Given the description of an element on the screen output the (x, y) to click on. 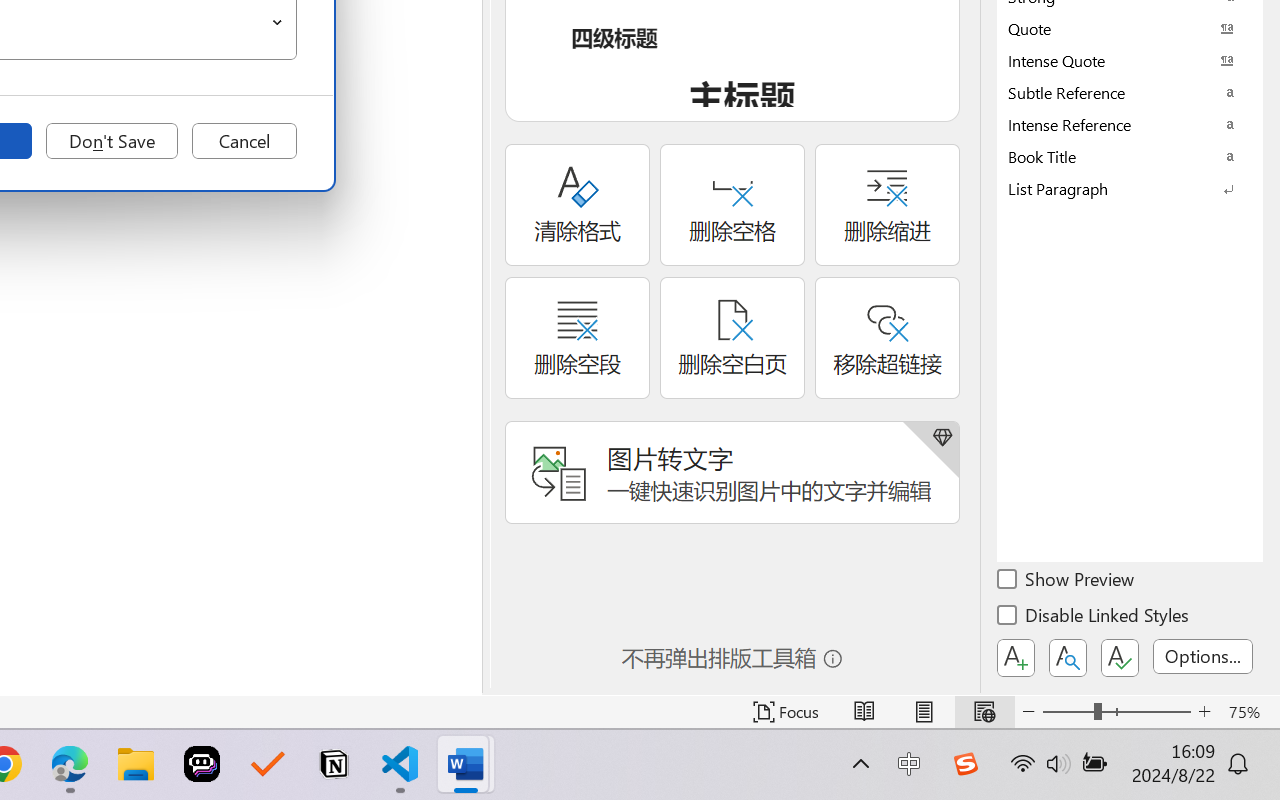
Class: NetUIButton (1119, 657)
Class: NetUIImage (1116, 188)
Web Layout (984, 712)
Intense Quote (1130, 60)
Cancel (244, 141)
